Given the description of an element on the screen output the (x, y) to click on. 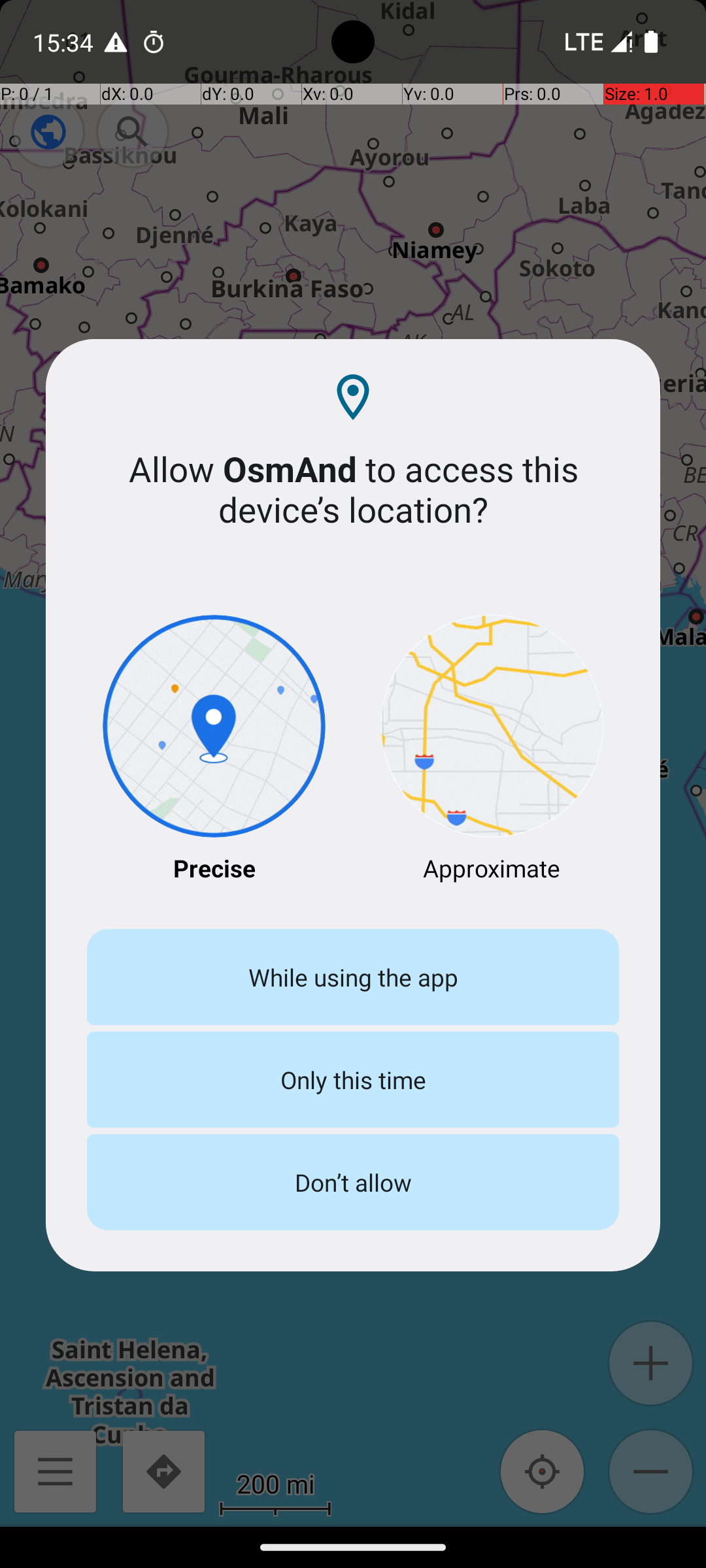
Allow OsmAnd to access this device’s location? Element type: android.widget.TextView (352, 488)
While using the app Element type: android.widget.Button (352, 977)
Only this time Element type: android.widget.Button (352, 1079)
Don’t allow Element type: android.widget.Button (352, 1182)
Precise Element type: android.widget.RadioButton (213, 749)
Approximate Element type: android.widget.RadioButton (491, 749)
